Given the description of an element on the screen output the (x, y) to click on. 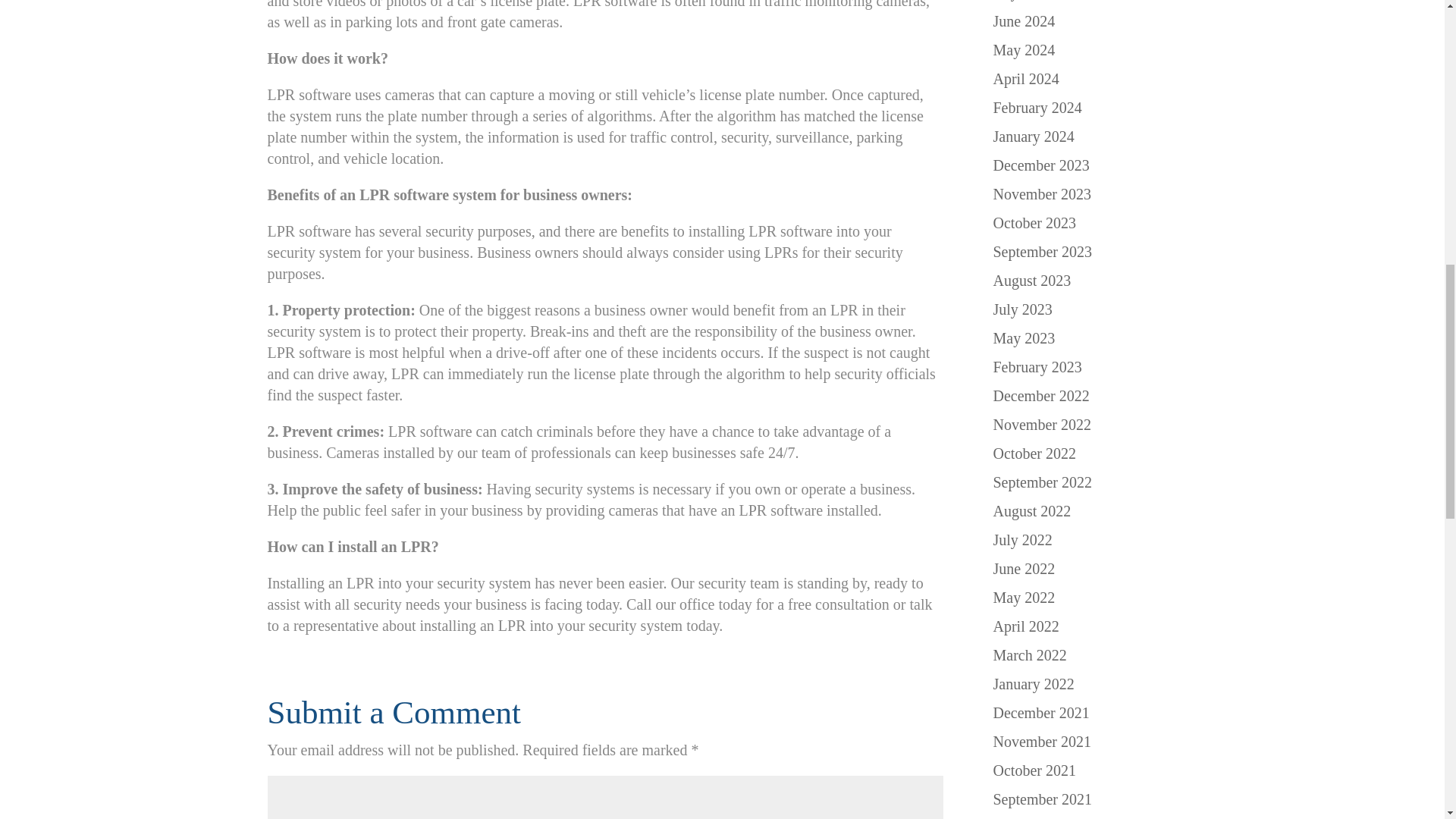
July 2024 (1022, 0)
June 2024 (1023, 21)
May 2024 (1023, 49)
